Given the description of an element on the screen output the (x, y) to click on. 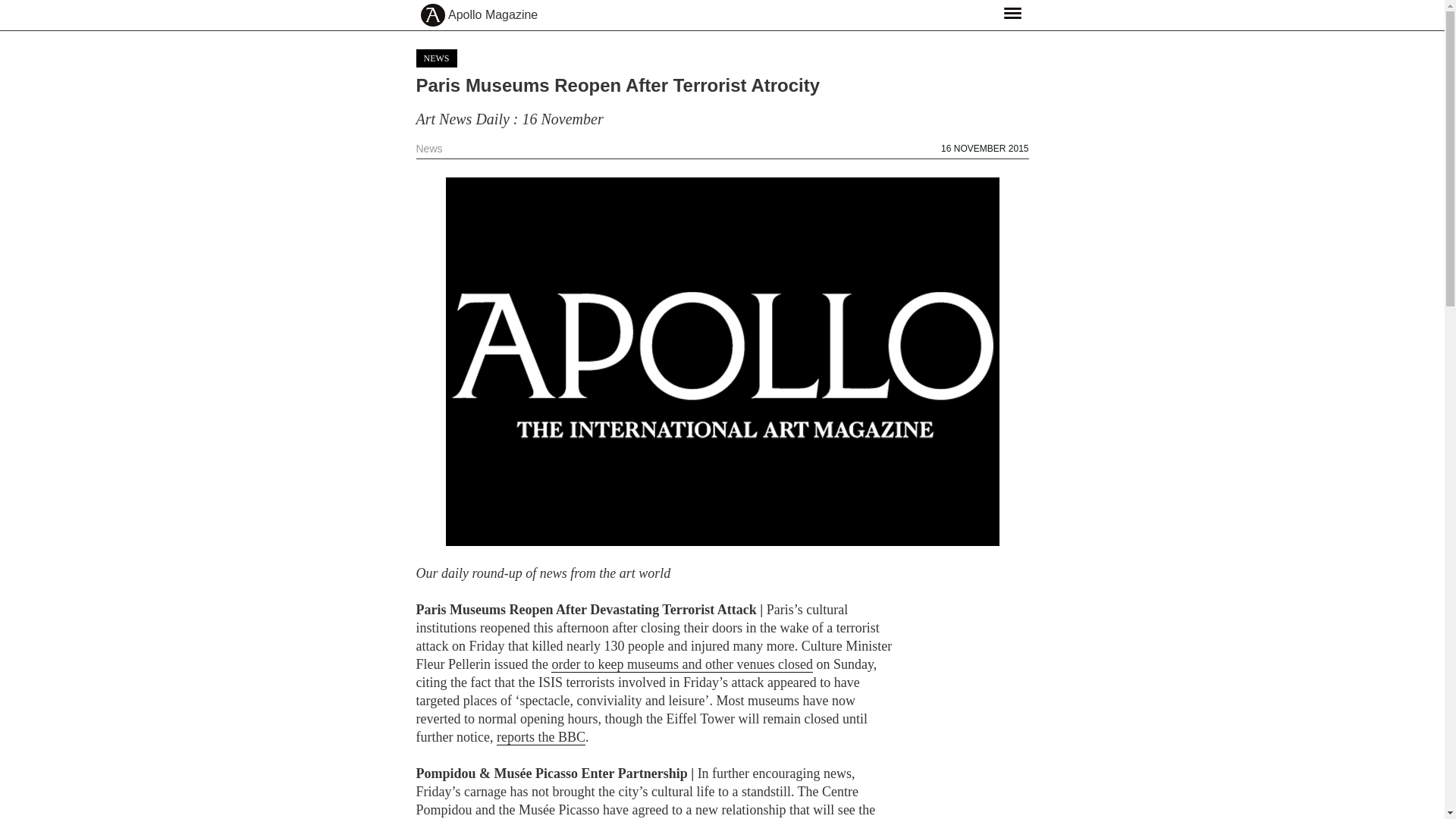
Nav toggle (1012, 12)
Apollo Magazine (492, 15)
order to keep museums and other venues closed (681, 664)
reports the BBC (540, 737)
Nav toggle (1012, 12)
